Given the description of an element on the screen output the (x, y) to click on. 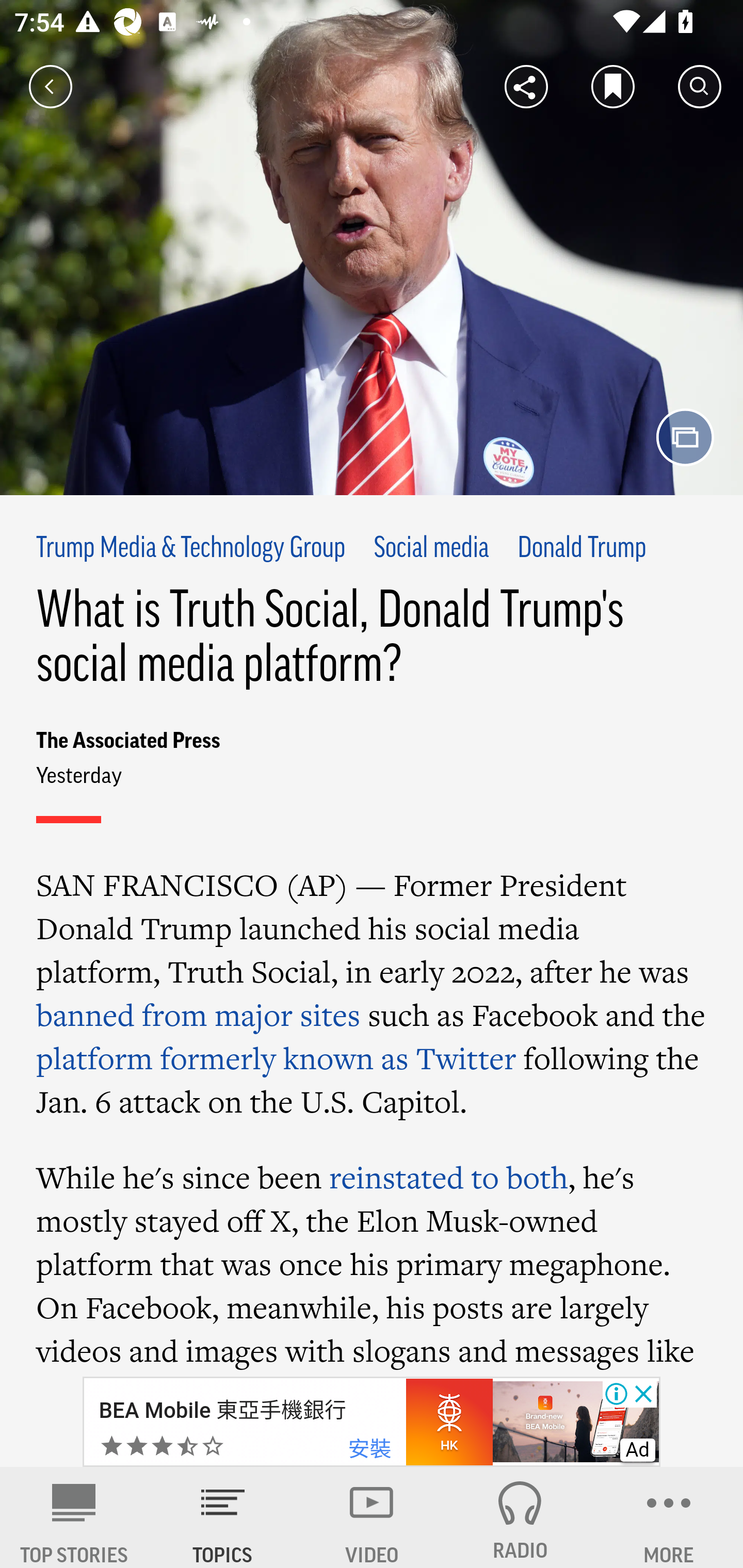
Trump Media & Technology Group (191, 549)
Social media (430, 549)
Donald Trump (581, 549)
banned from major sites (198, 1015)
platform formerly known as Twitter (276, 1058)
reinstated to both (448, 1177)
BEA Mobile 東亞手機銀行 (221, 1410)
安裝 (369, 1449)
AP News TOP STORIES (74, 1517)
TOPICS (222, 1517)
VIDEO (371, 1517)
RADIO (519, 1517)
MORE (668, 1517)
